Given the description of an element on the screen output the (x, y) to click on. 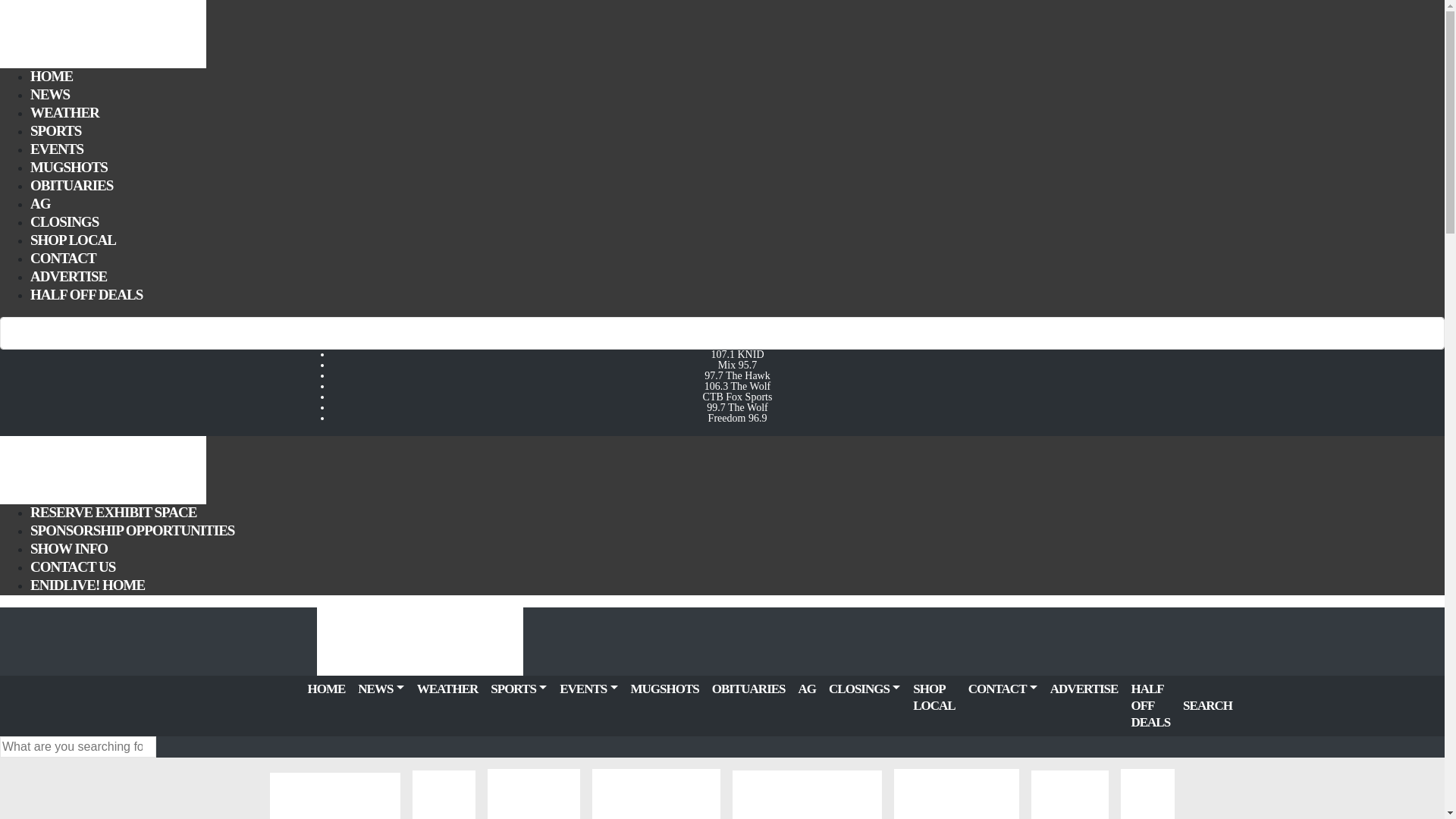
HOME (51, 75)
ADVERTISE (68, 276)
SHOP LOCAL (73, 239)
MUGSHOTS (68, 167)
EnidLIVE! (103, 468)
OBITUARIES (71, 185)
EVENTS (56, 148)
HALF OFF DEALS (86, 294)
Mix 95.7 (737, 365)
NEWS (49, 94)
